Given the description of an element on the screen output the (x, y) to click on. 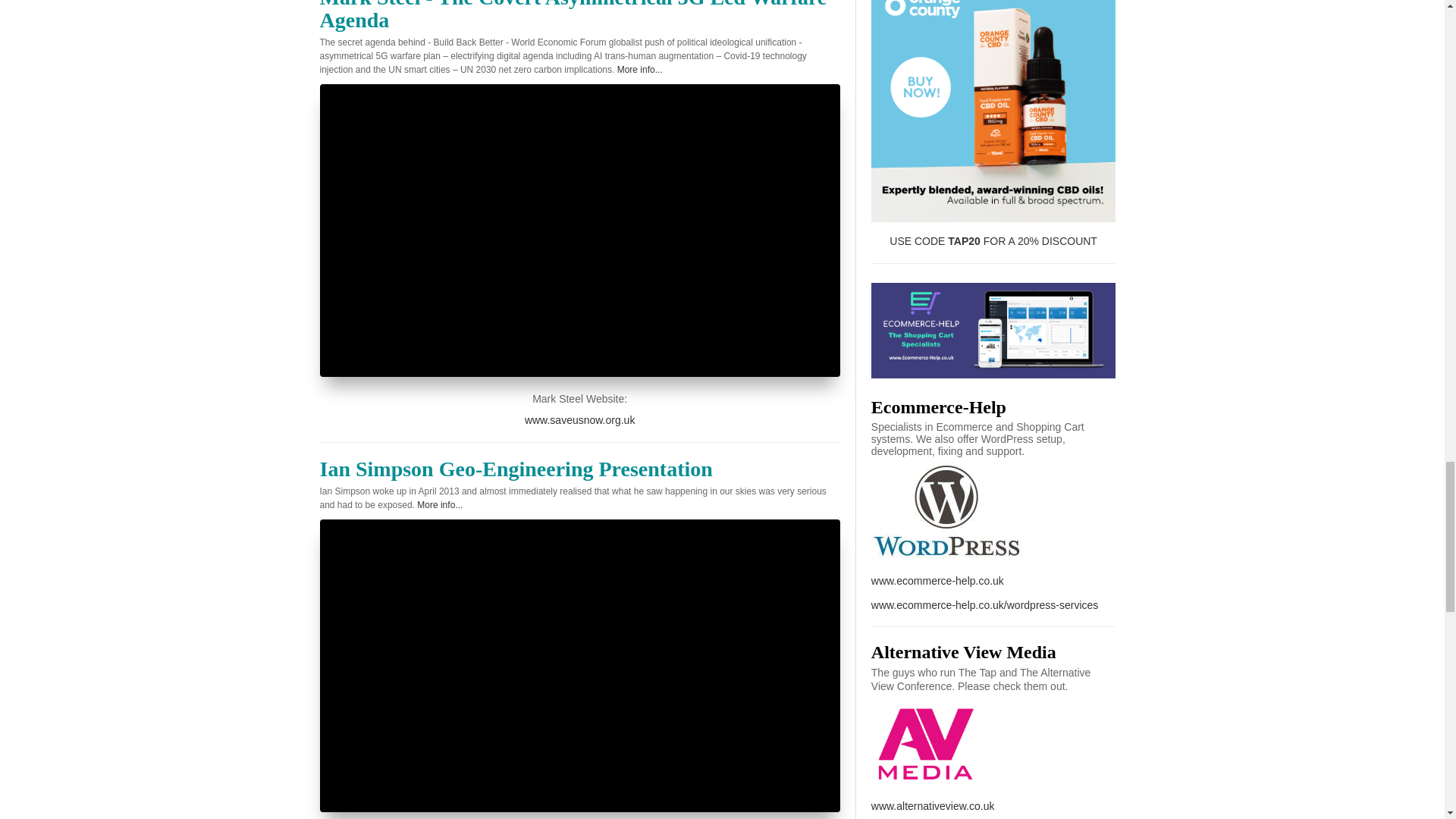
More info... (639, 69)
More info... (439, 504)
www.saveusnow.org.uk (579, 419)
